Given the description of an element on the screen output the (x, y) to click on. 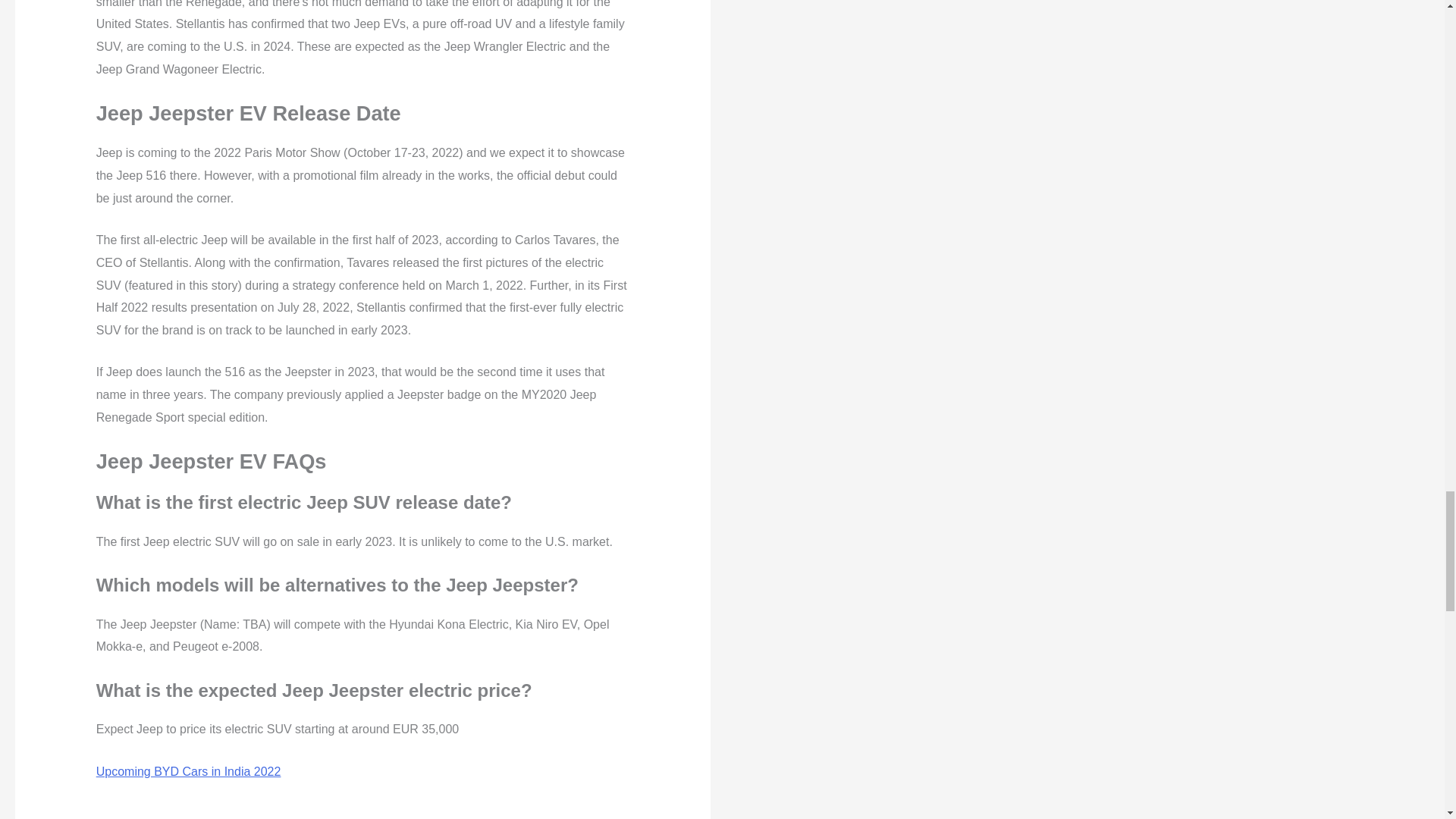
Upcoming BYD Cars in India 2022 (188, 771)
